Given the description of an element on the screen output the (x, y) to click on. 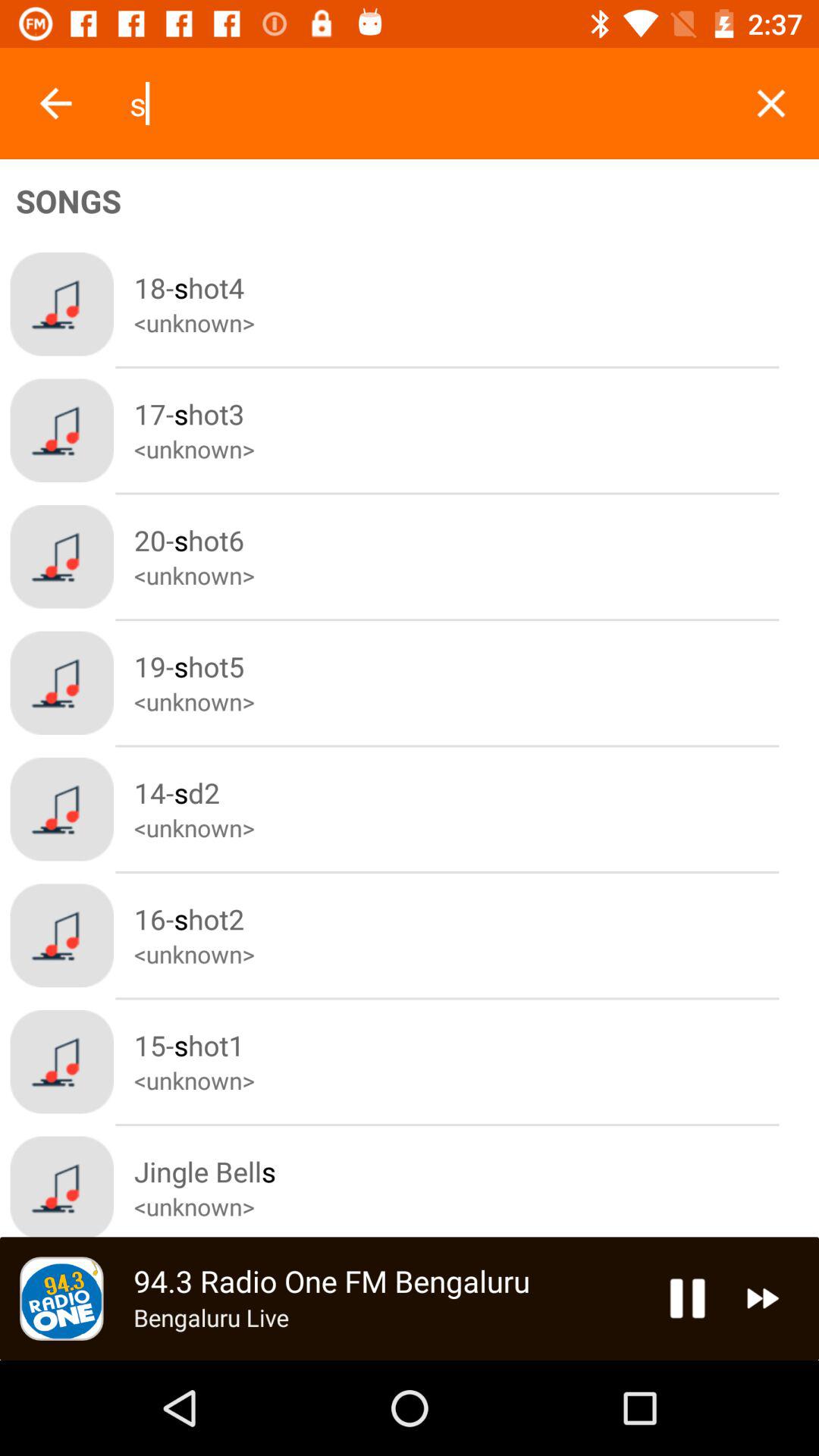
tap the s item (425, 103)
